Given the description of an element on the screen output the (x, y) to click on. 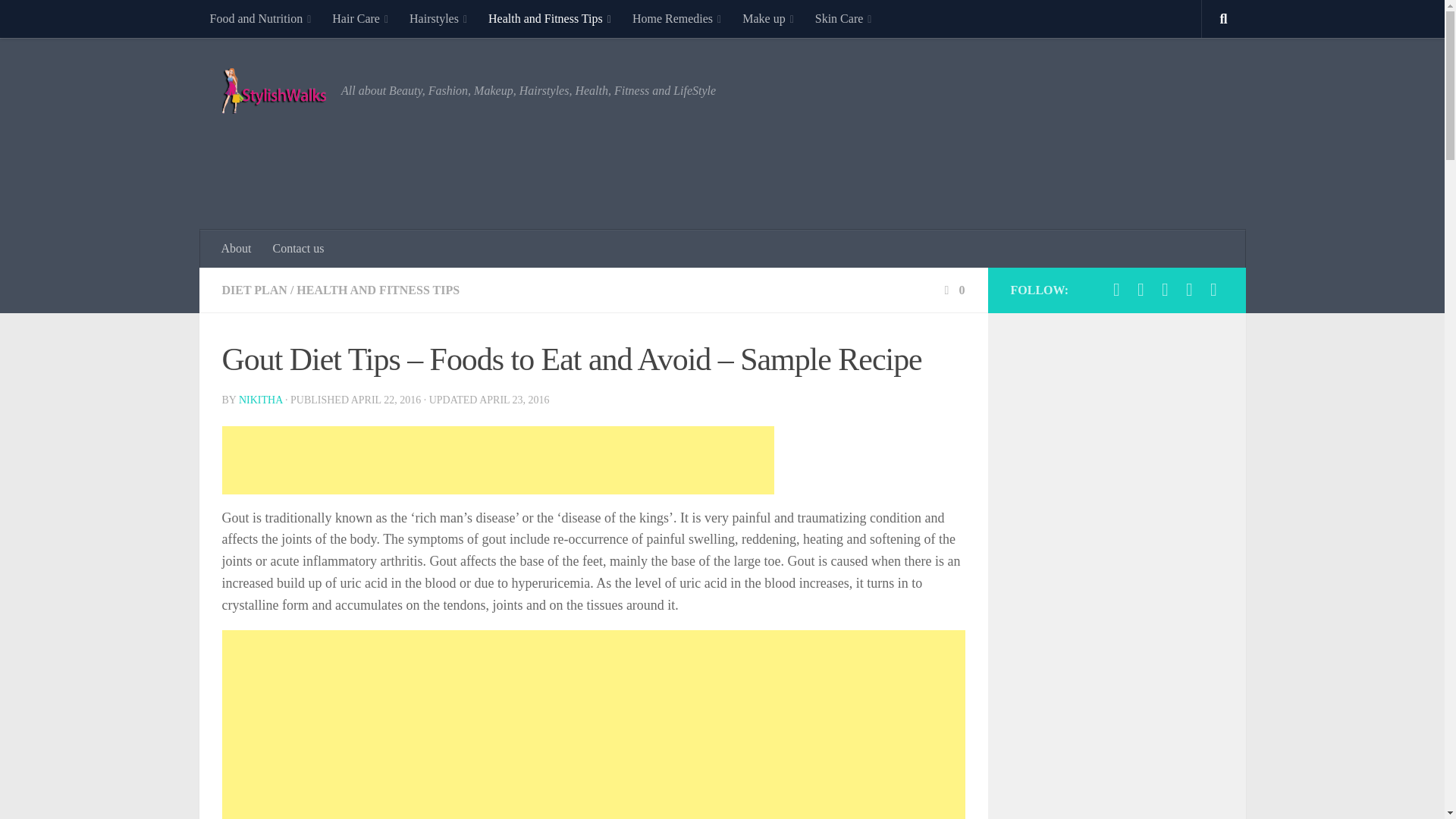
Posts by Nikitha (260, 399)
Health and Fitness Tips (549, 18)
Advertisement (524, 724)
Food and Nutrition (259, 18)
Follow us on Twitter (1140, 289)
Advertisement (497, 459)
Follow us on Facebook-official (1115, 289)
Skip to content (59, 20)
Advertisement (946, 161)
Home Remedies (676, 18)
Hair Care (359, 18)
Hairstyles (437, 18)
